Given the description of an element on the screen output the (x, y) to click on. 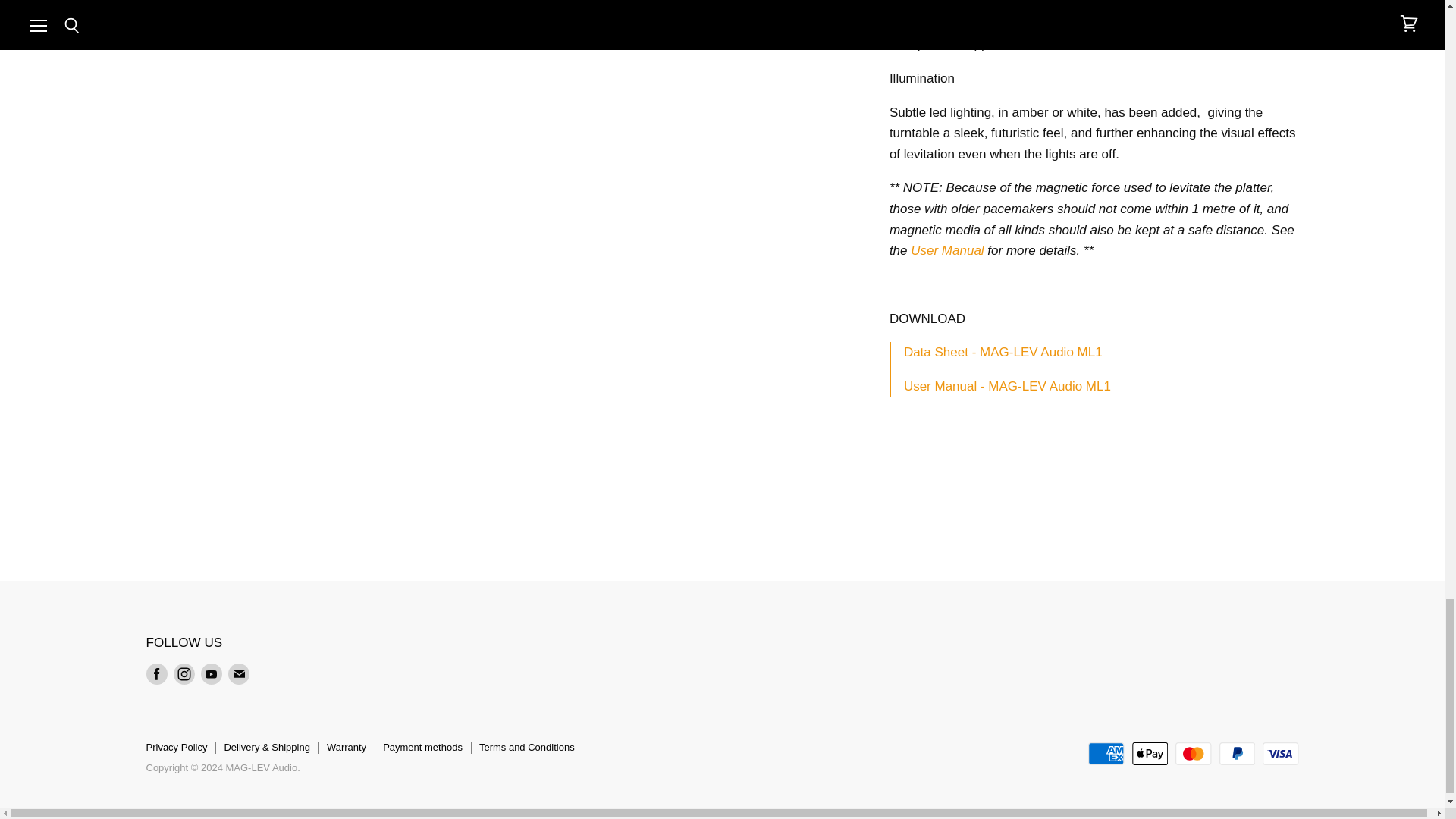
Youtube (210, 673)
E-mail (237, 673)
Instagram (183, 673)
USER MANUAL ML1 (1007, 386)
USER MANUAL (949, 250)
Facebook (156, 673)
